Given the description of an element on the screen output the (x, y) to click on. 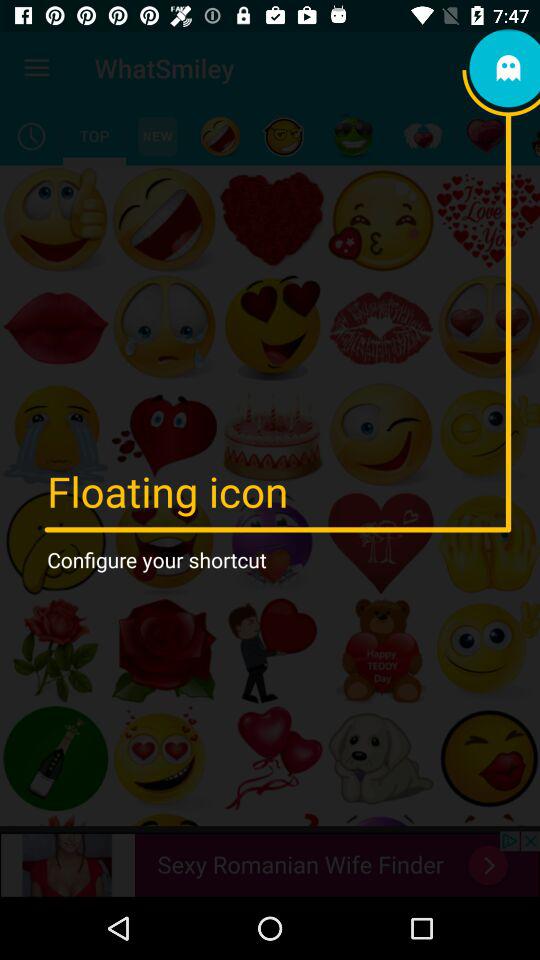
select previously viewed (31, 136)
